Given the description of an element on the screen output the (x, y) to click on. 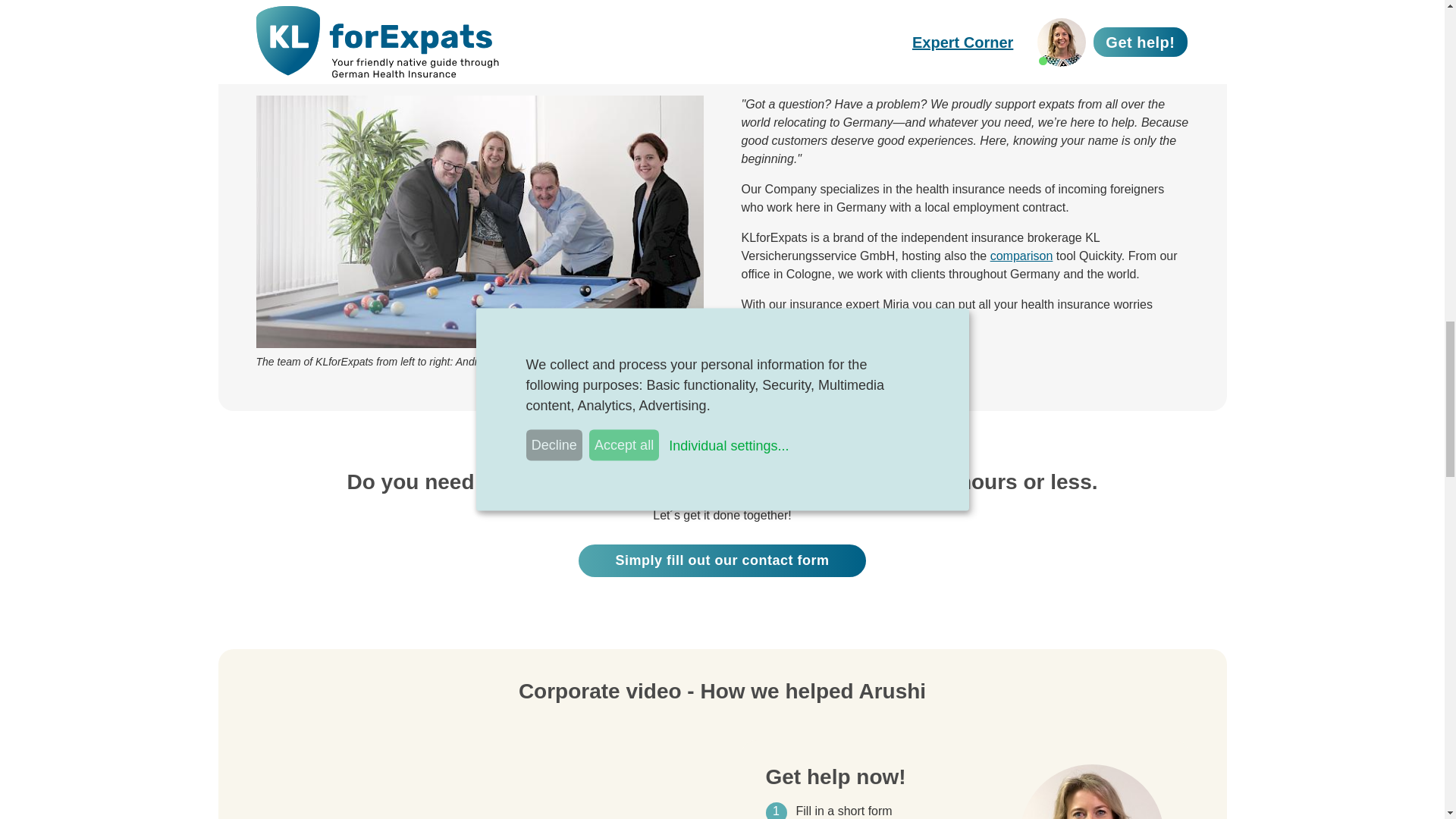
comparison (1021, 255)
Simply fill out our contact form (721, 560)
